Given the description of an element on the screen output the (x, y) to click on. 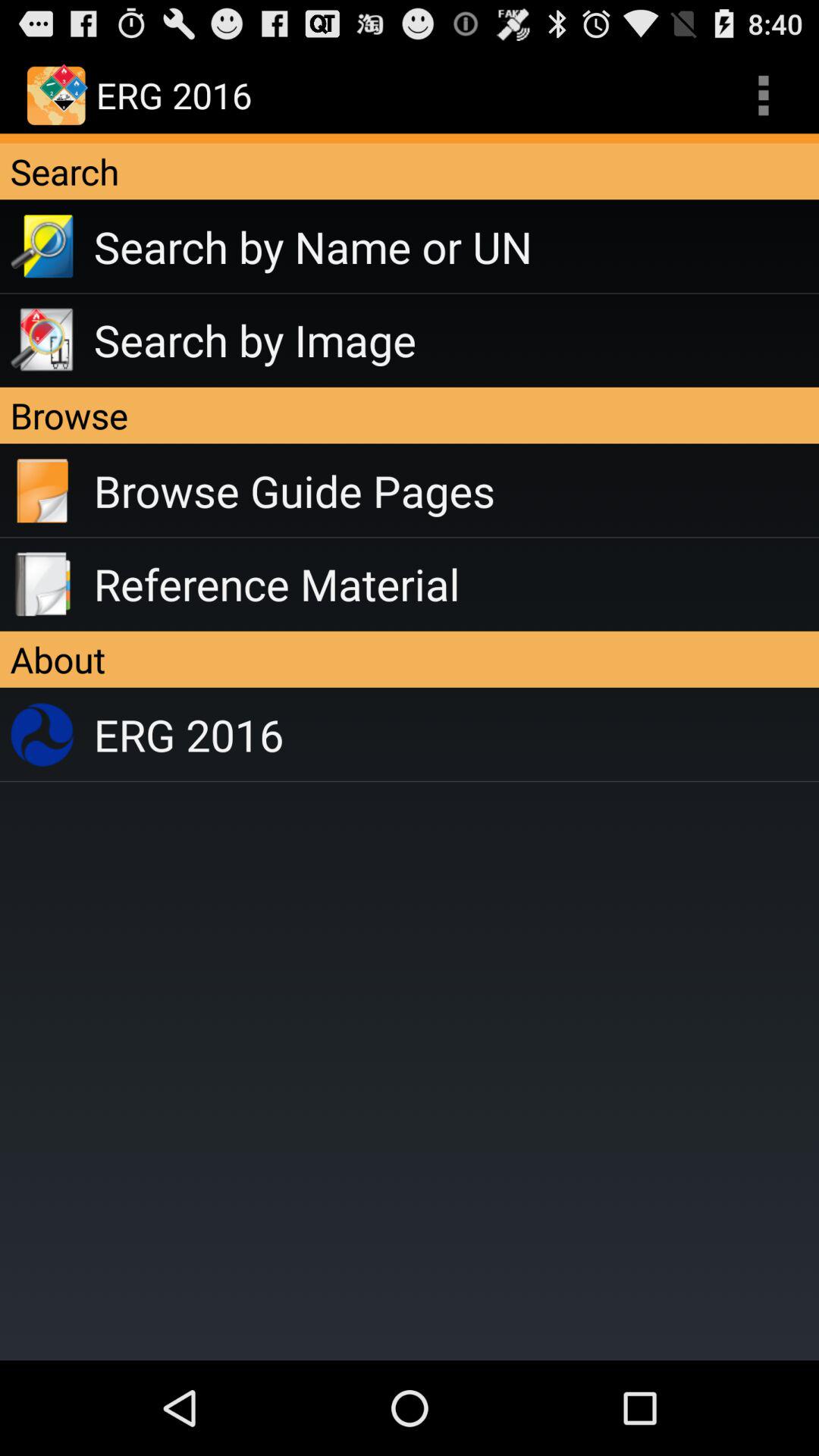
open the item at the top right corner (763, 95)
